Given the description of an element on the screen output the (x, y) to click on. 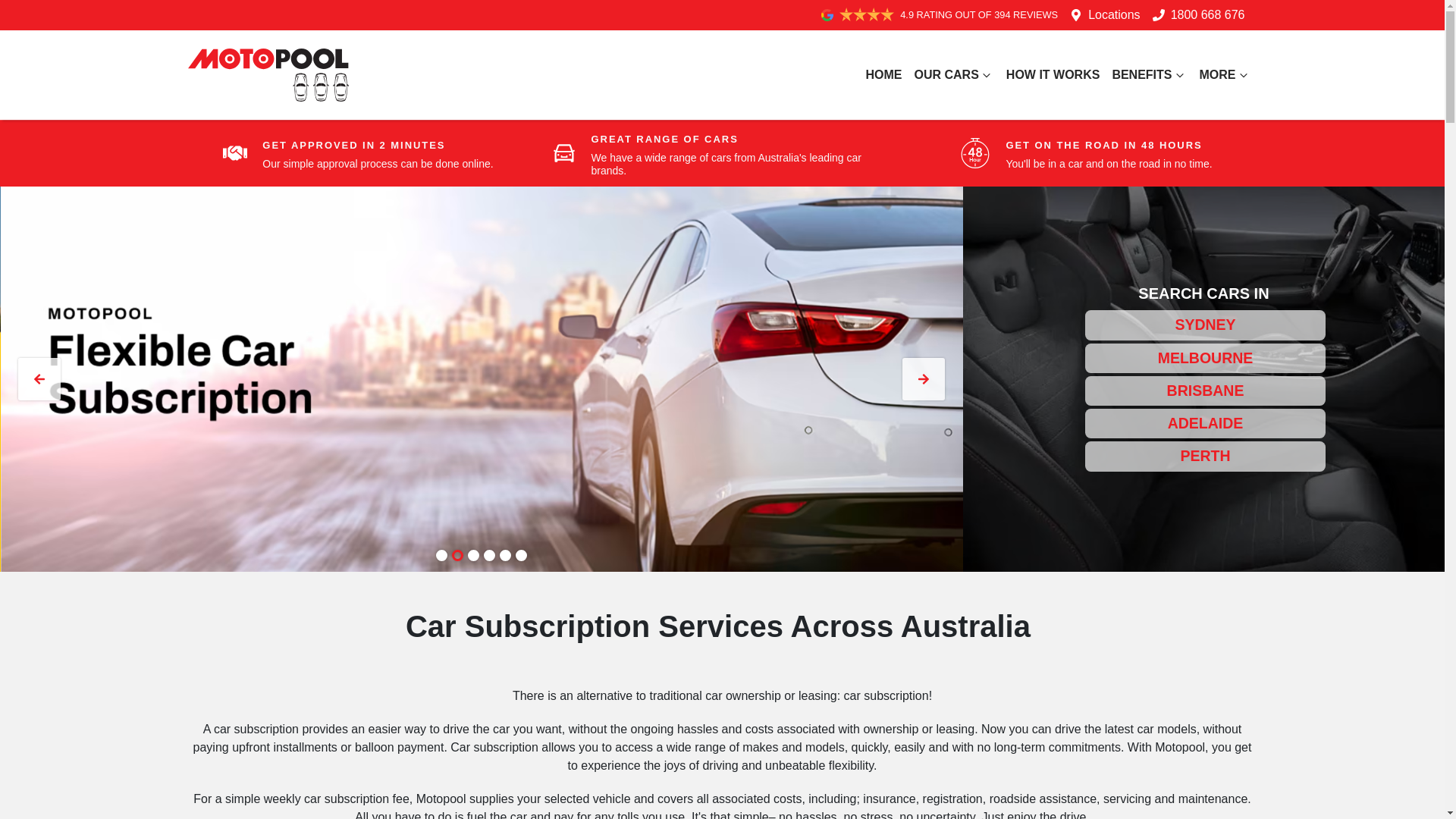
1800 668 676 Element type: text (1207, 14)
SYDNEY Element type: text (1205, 324)
BRISBANE Element type: text (1205, 390)
ADELAIDE Element type: text (1205, 423)
BENEFITS Element type: text (1148, 74)
MORE Element type: text (1225, 74)
MELBOURNE Element type: text (1205, 358)
HOW IT WORKS Element type: text (1053, 74)
HOME Element type: text (883, 74)
OUR CARS Element type: text (953, 74)
Locations Element type: text (1114, 14)
PERTH Element type: text (1205, 455)
